Given the description of an element on the screen output the (x, y) to click on. 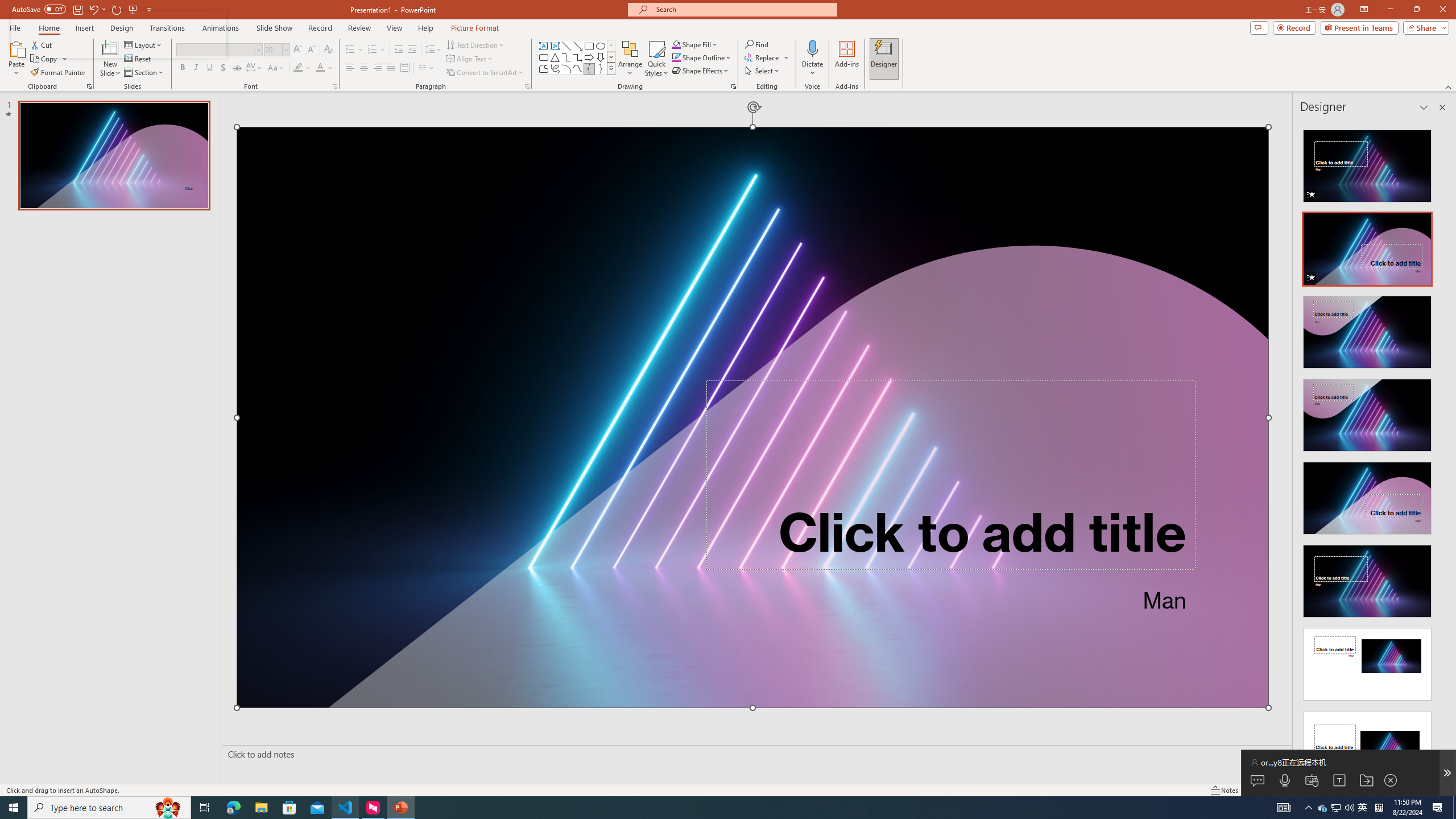
Increase Indent (412, 49)
Open (285, 49)
Vertical Text Box (554, 45)
Dictate (812, 58)
Comments (1259, 27)
Align Text (470, 58)
Arc (566, 68)
Font (219, 49)
Line (566, 45)
Paste (16, 58)
Collapse the Ribbon (1448, 86)
Change Case (276, 67)
Redo (117, 9)
